Given the description of an element on the screen output the (x, y) to click on. 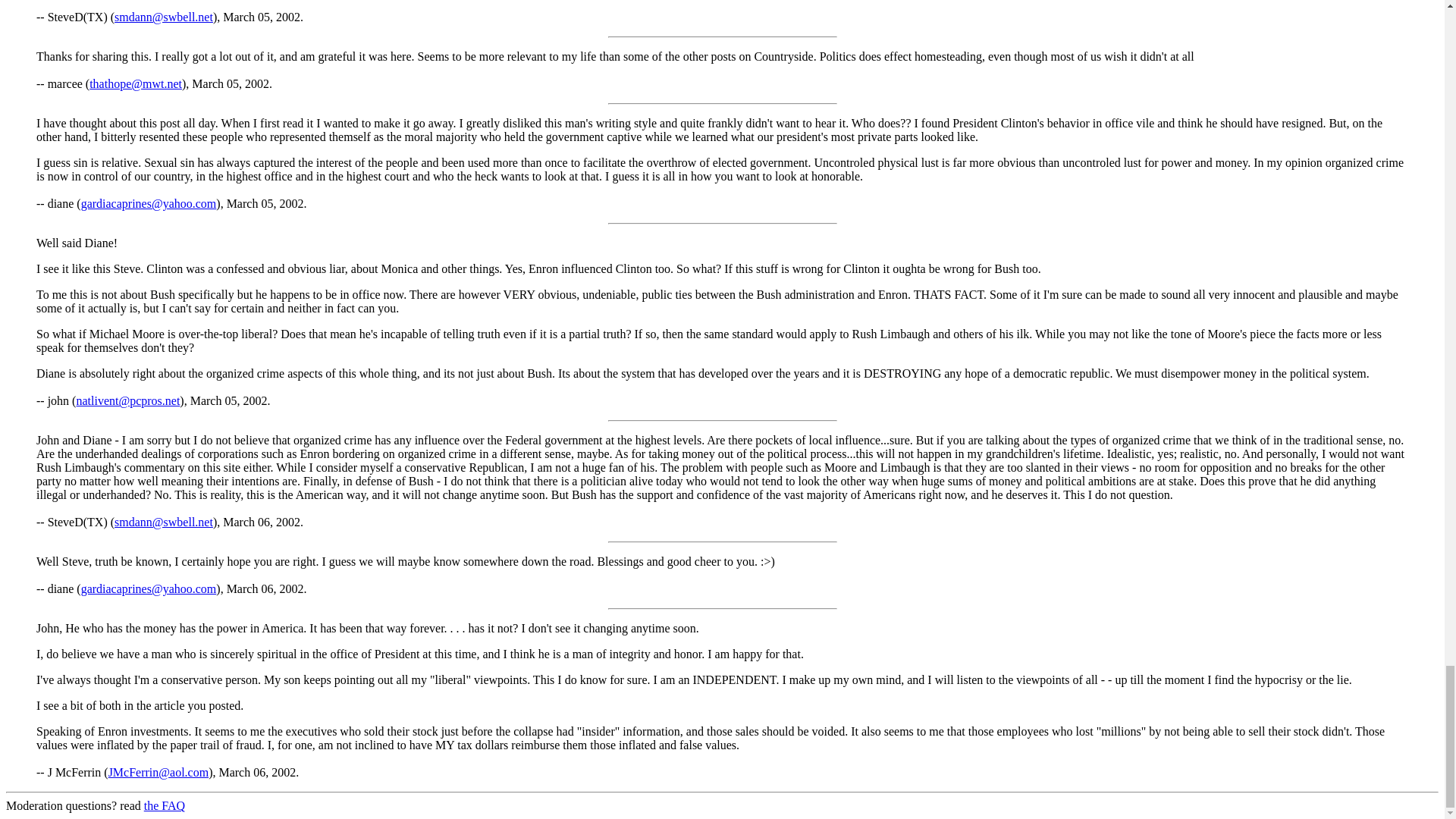
the FAQ (164, 805)
